Given the description of an element on the screen output the (x, y) to click on. 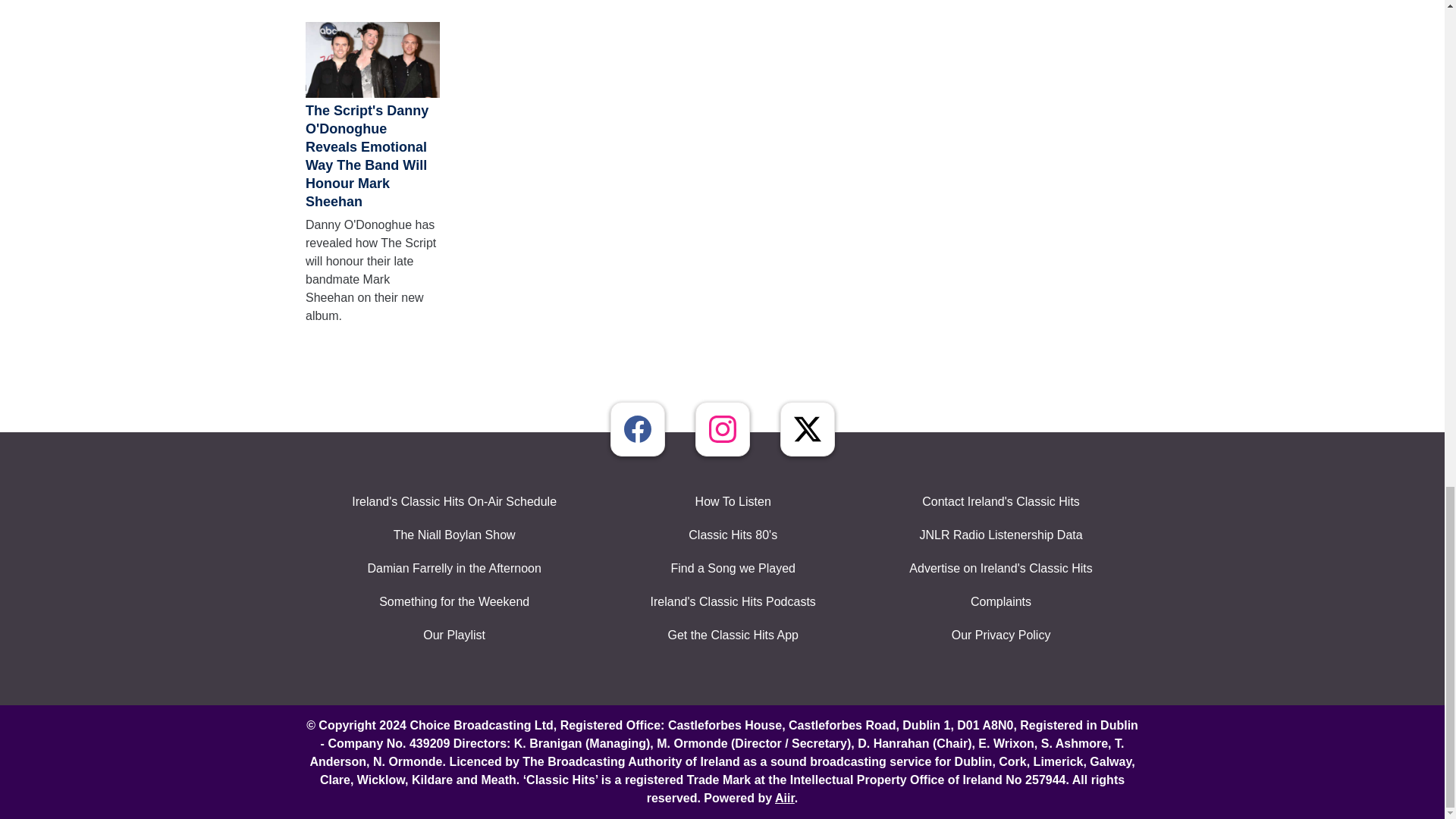
Aiir radio website CMS (784, 797)
